Given the description of an element on the screen output the (x, y) to click on. 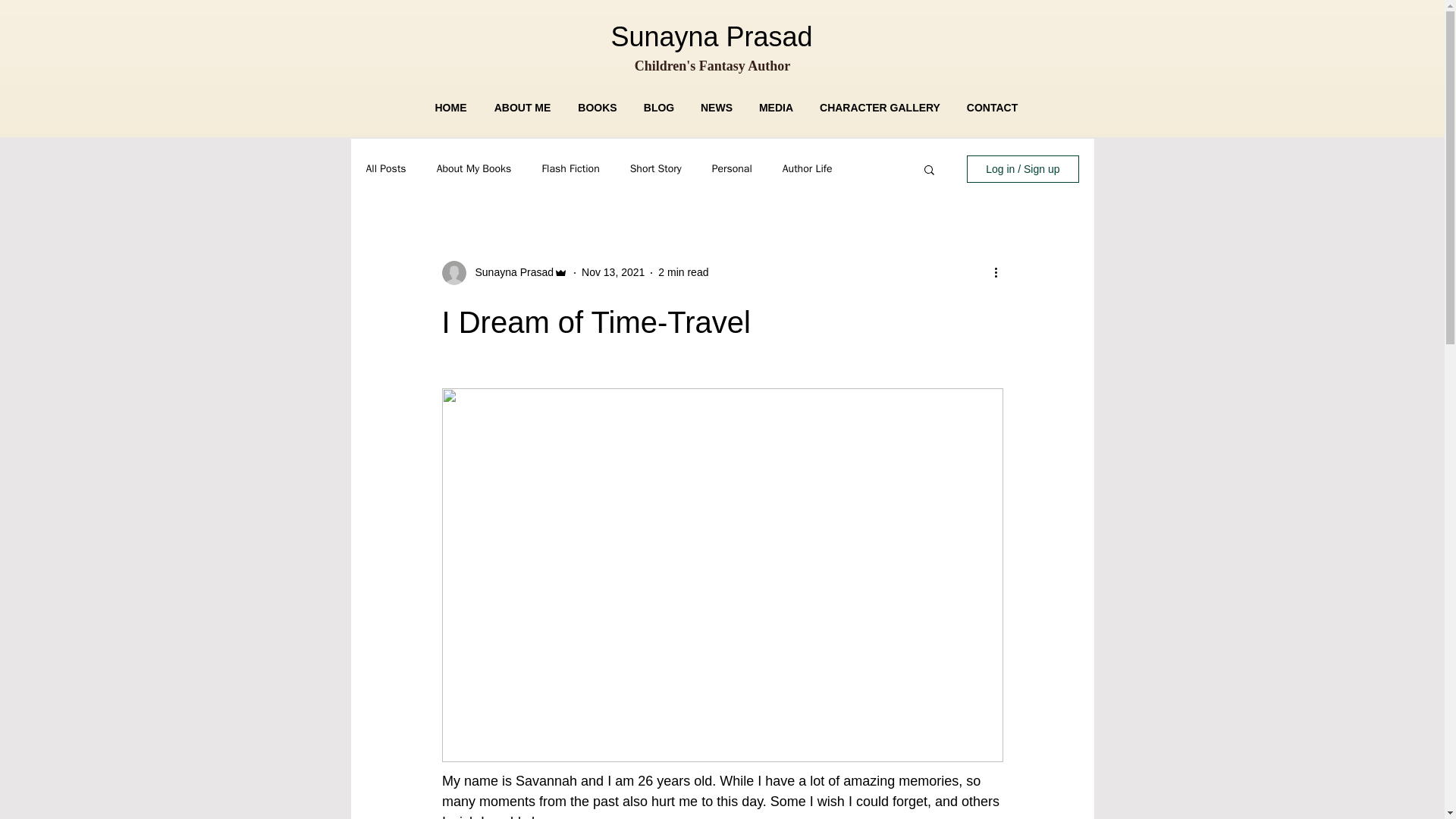
BOOKS (597, 107)
Short Story (655, 169)
Personal (731, 169)
CONTACT (991, 107)
MEDIA (775, 107)
BLOG (658, 107)
Sunayna Prasad (509, 272)
2 min read (682, 272)
Nov 13, 2021 (612, 272)
CHARACTER GALLERY (879, 107)
